Given the description of an element on the screen output the (x, y) to click on. 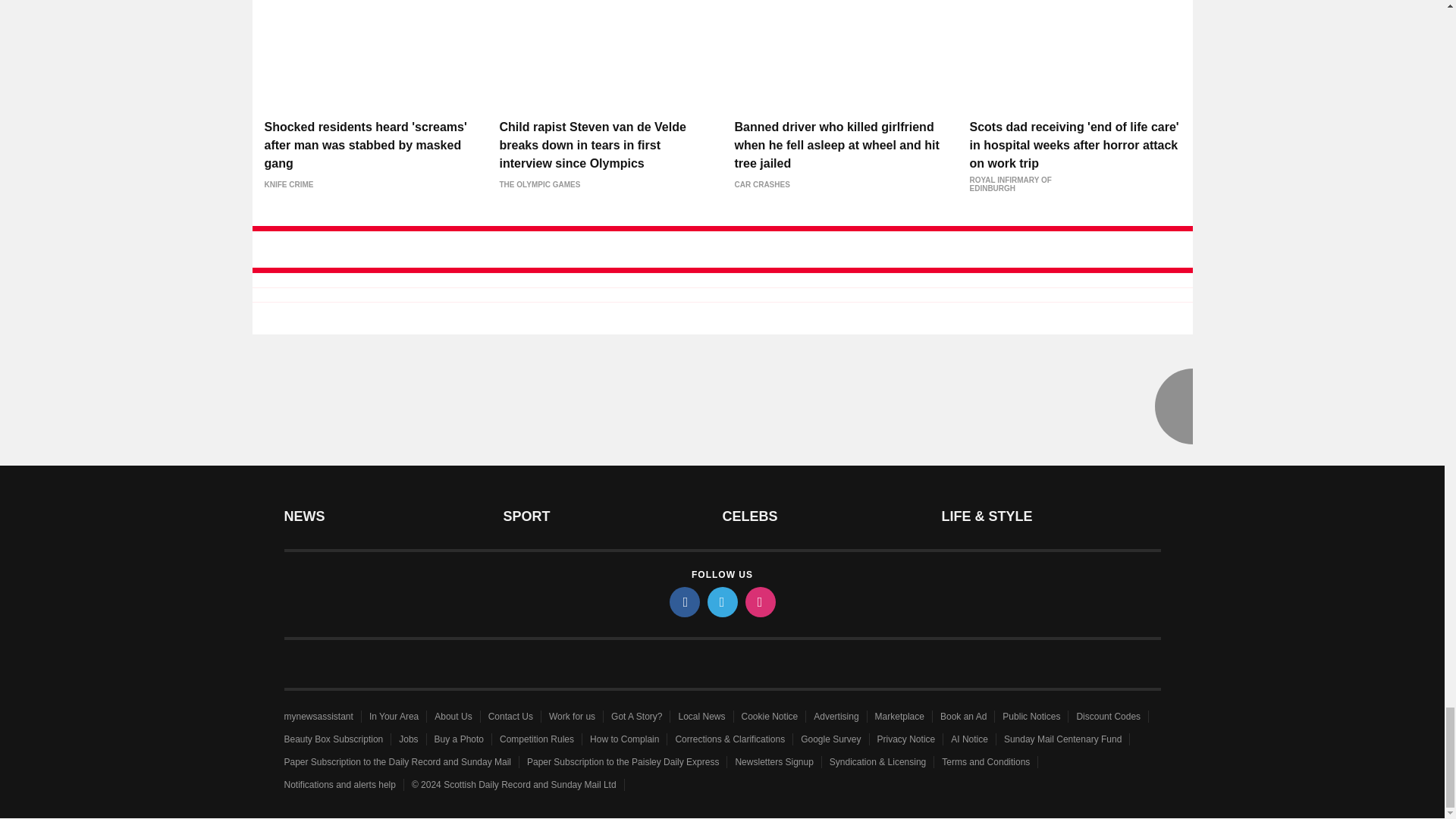
twitter (721, 602)
facebook (683, 602)
instagram (759, 602)
